Given the description of an element on the screen output the (x, y) to click on. 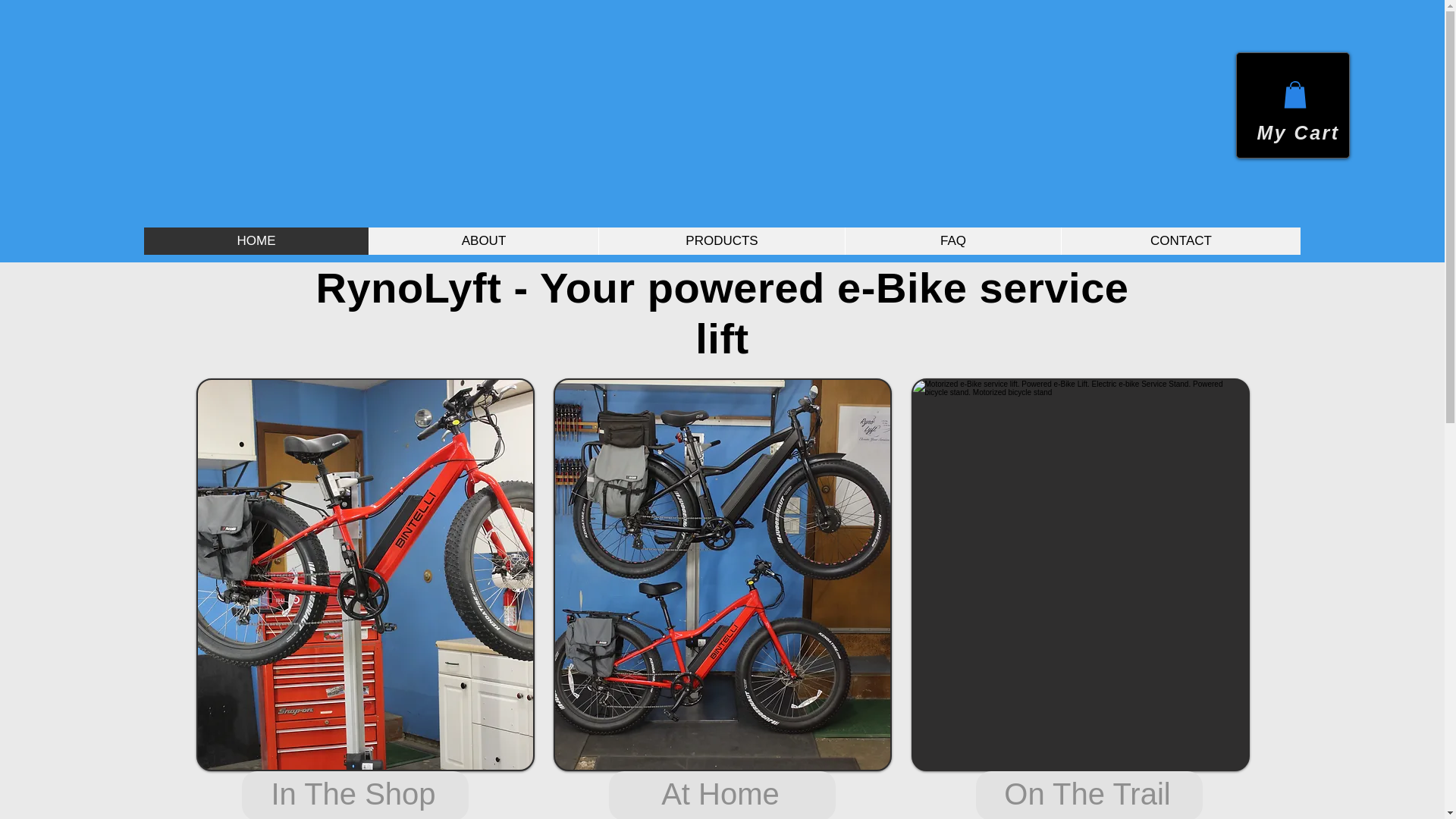
PRODUCTS (721, 240)
On The Trail (1088, 795)
FAQ (952, 240)
At Home (721, 795)
ABOUT (483, 240)
In The Shop (354, 795)
HOME (256, 240)
CONTACT (1180, 240)
